Given the description of an element on the screen output the (x, y) to click on. 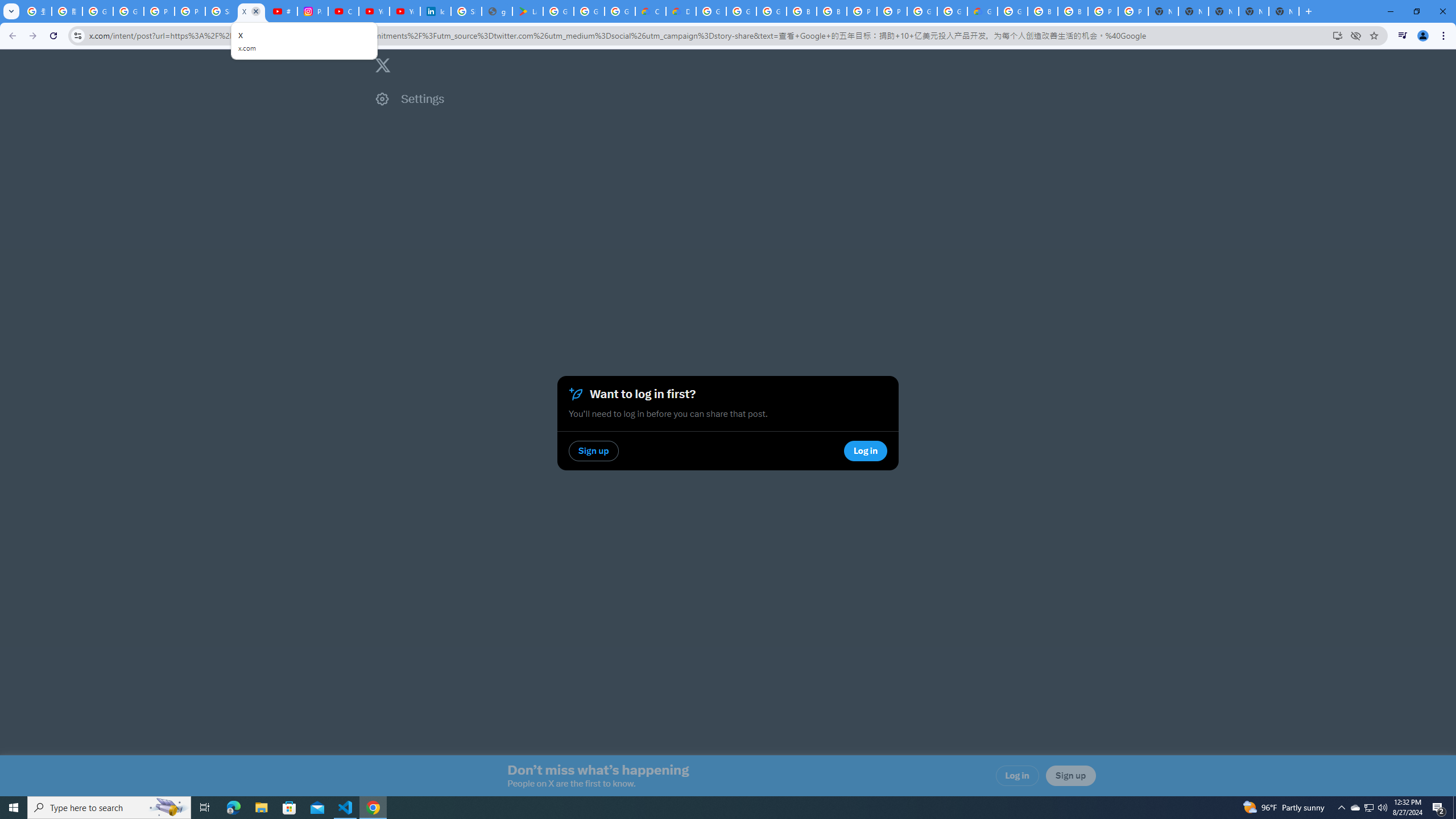
Browse Chrome as a guest - Computer - Google Chrome Help (830, 11)
Google Cloud Estimate Summary (982, 11)
New Tab (1283, 11)
Sign in - Google Accounts (220, 11)
Last Shelter: Survival - Apps on Google Play (527, 11)
Google Cloud Platform (1012, 11)
Sign in - Google Accounts (465, 11)
